Given the description of an element on the screen output the (x, y) to click on. 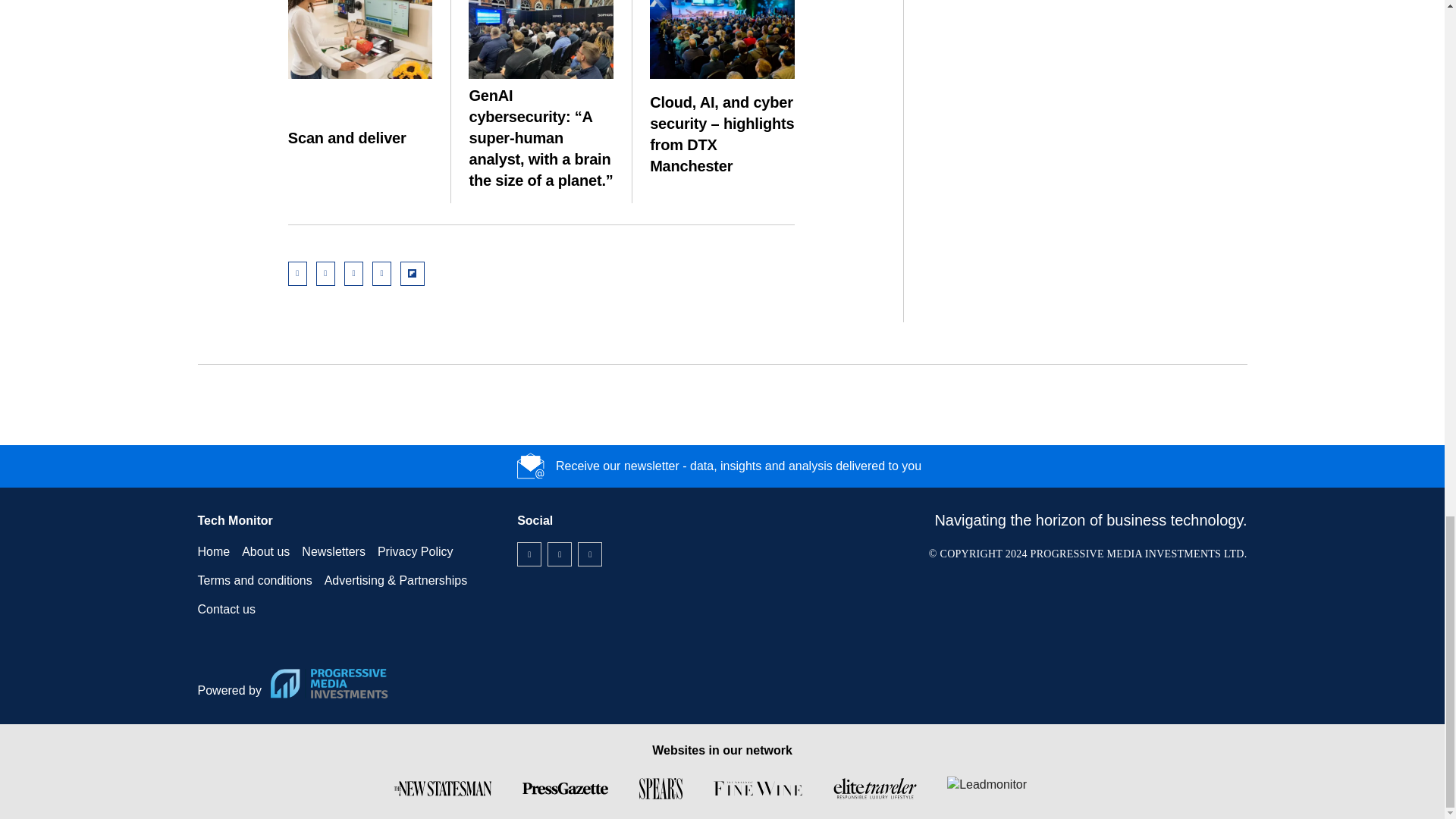
Share on LinkedIN (324, 273)
Share on facebook (381, 273)
Scan and deliver (360, 39)
Share on Twitter (352, 273)
Share in an email (297, 273)
